Given the description of an element on the screen output the (x, y) to click on. 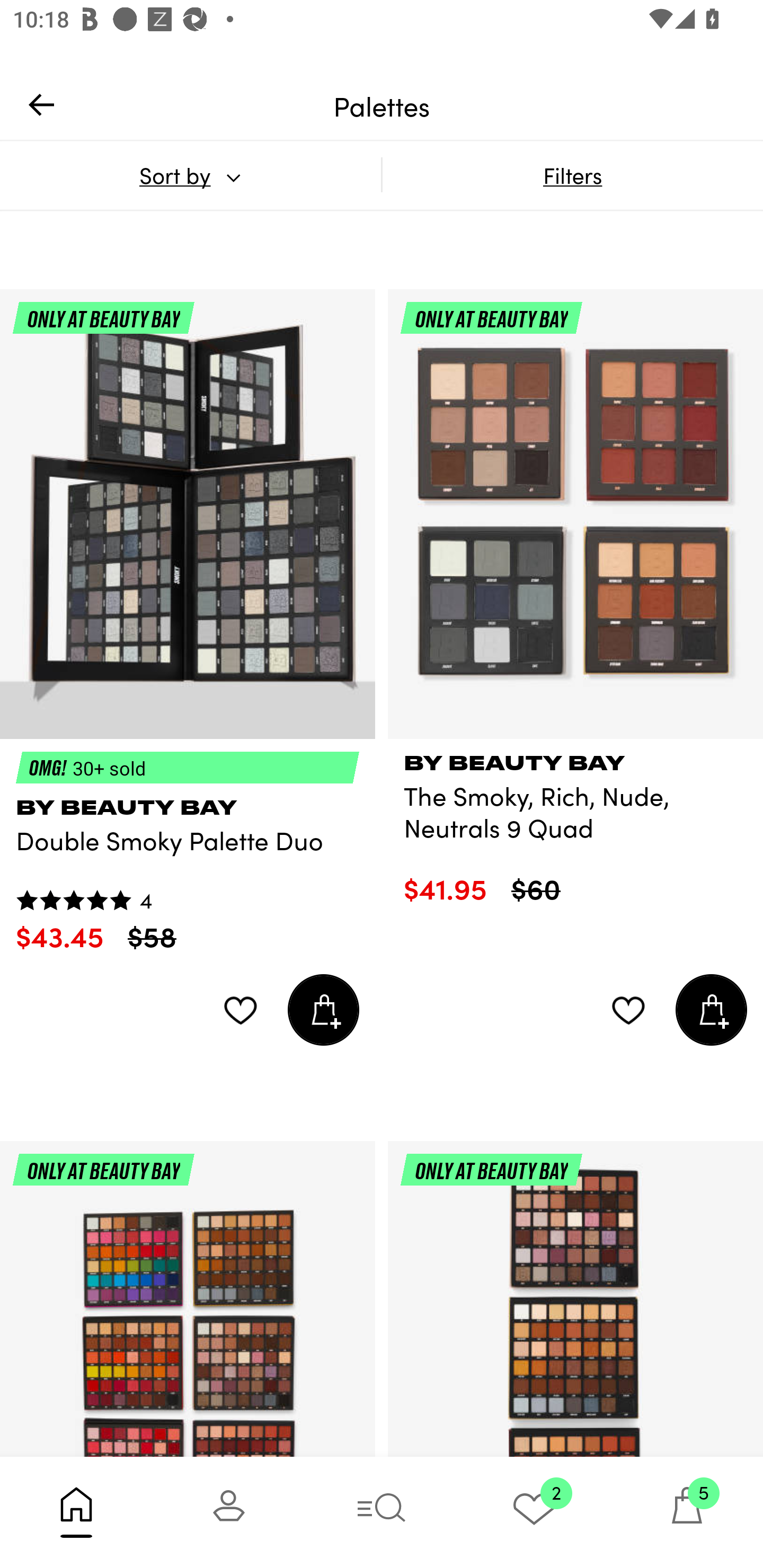
Sort by (190, 174)
Filters (572, 174)
2 (533, 1512)
5 (686, 1512)
